Given the description of an element on the screen output the (x, y) to click on. 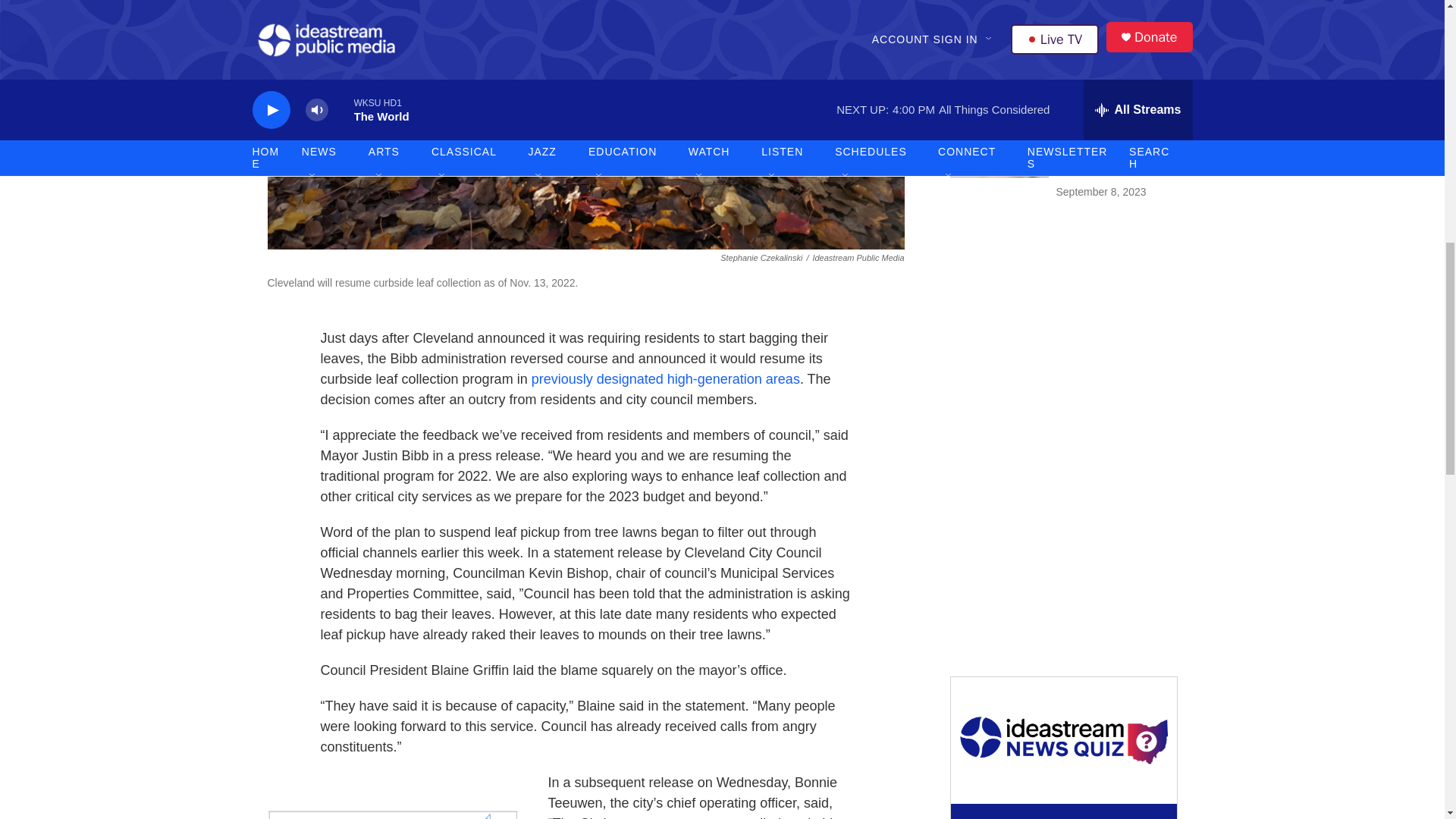
3rd party ad content (1062, 330)
3rd party ad content (1062, 551)
